Given the description of an element on the screen output the (x, y) to click on. 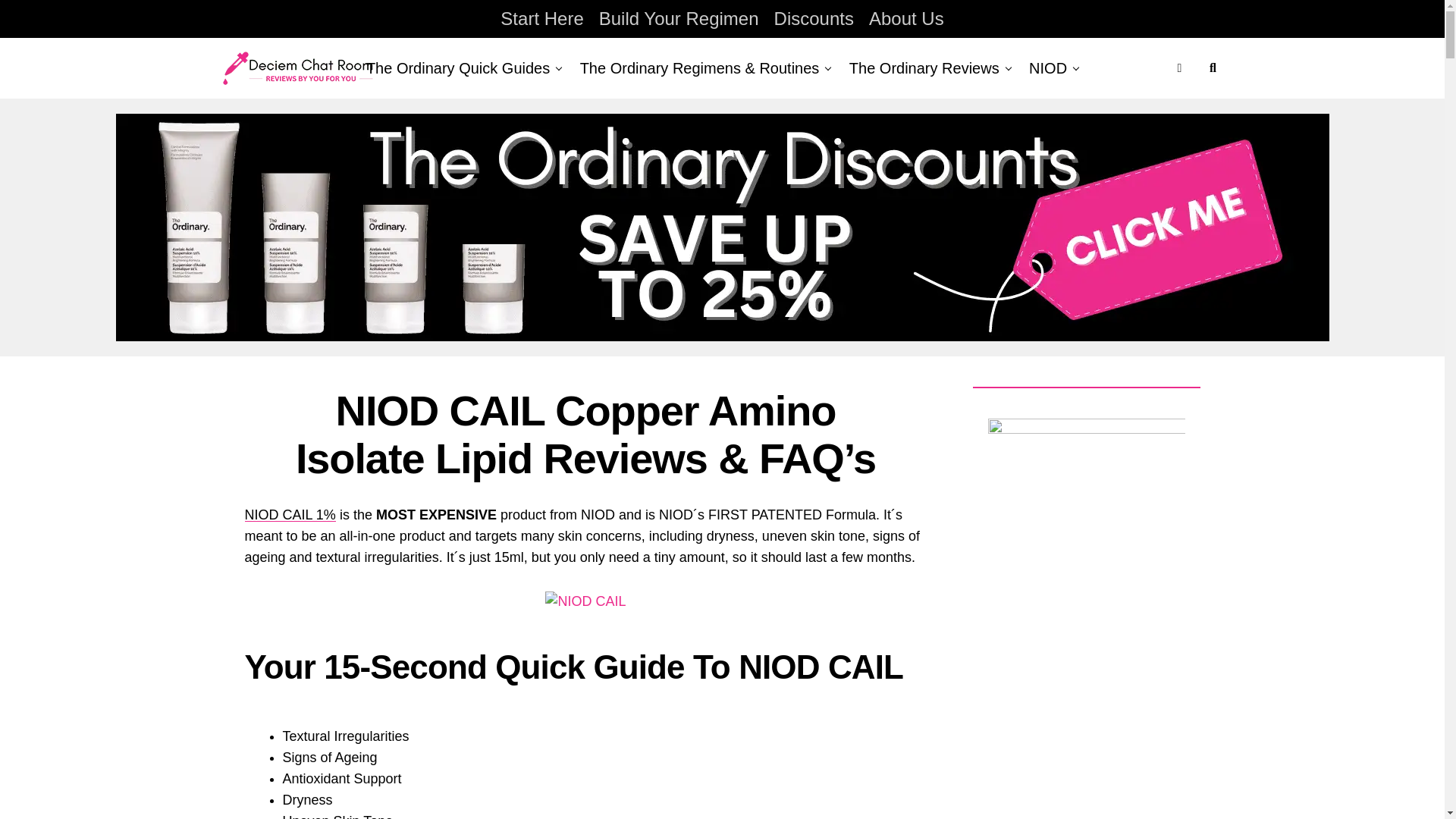
Side Build Your Own Skin Care Regimen (1086, 618)
